Given the description of an element on the screen output the (x, y) to click on. 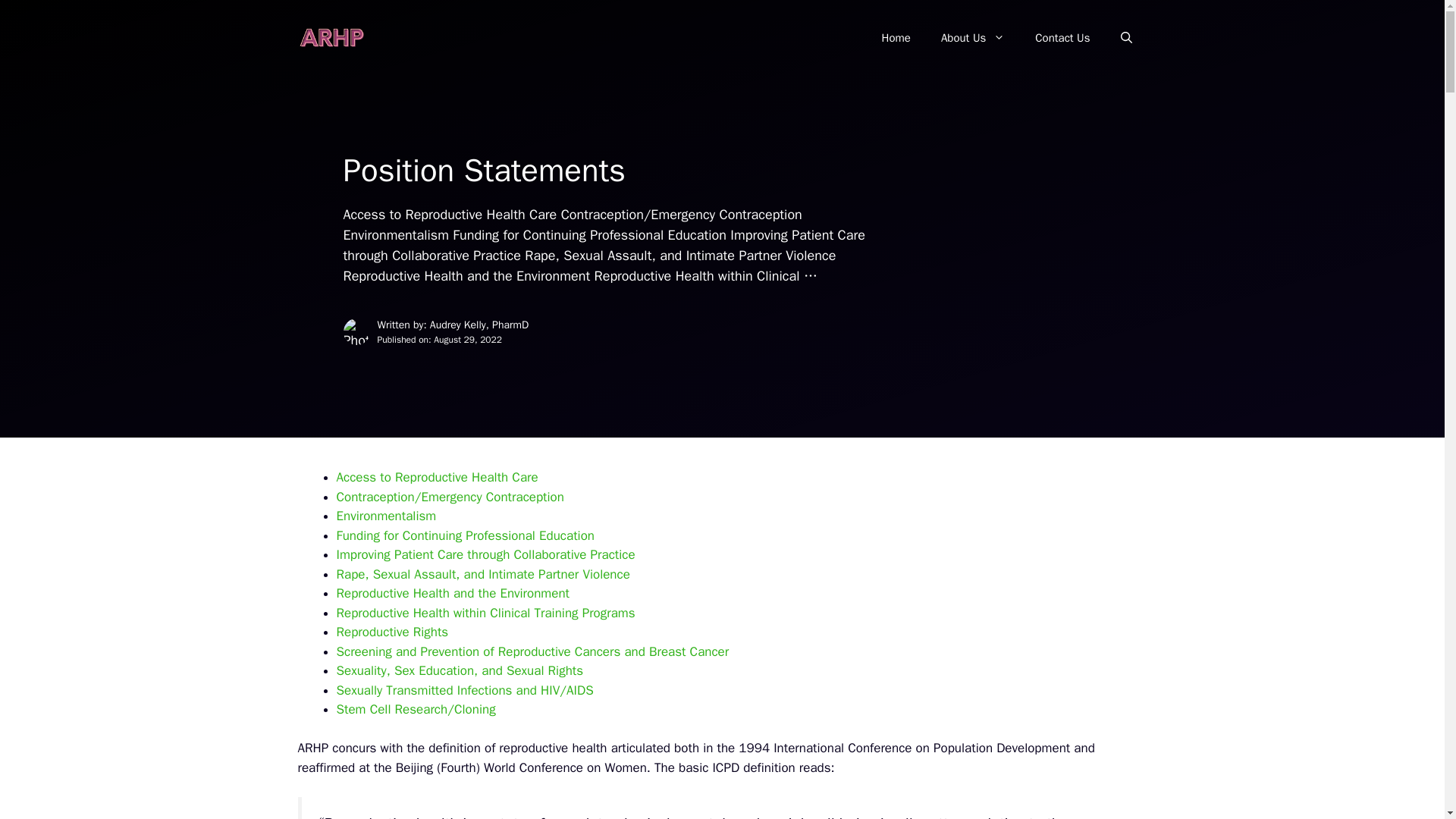
Home (896, 37)
Contact Us (1062, 37)
Reproductive Health within Clinical Training Programs (485, 612)
Sexuality, Sex Education, and Sexual Rights (459, 670)
Access to Reproductive Health Care (437, 477)
Funding for Continuing Professional Education (465, 535)
Improving Patient Care through Collaborative Practice (485, 554)
Reproductive Health and the Environment (453, 593)
Environmentalism (386, 515)
About Us (973, 37)
Reproductive Rights (392, 631)
Rape, Sexual Assault, and Intimate Partner Violence (483, 574)
